Given the description of an element on the screen output the (x, y) to click on. 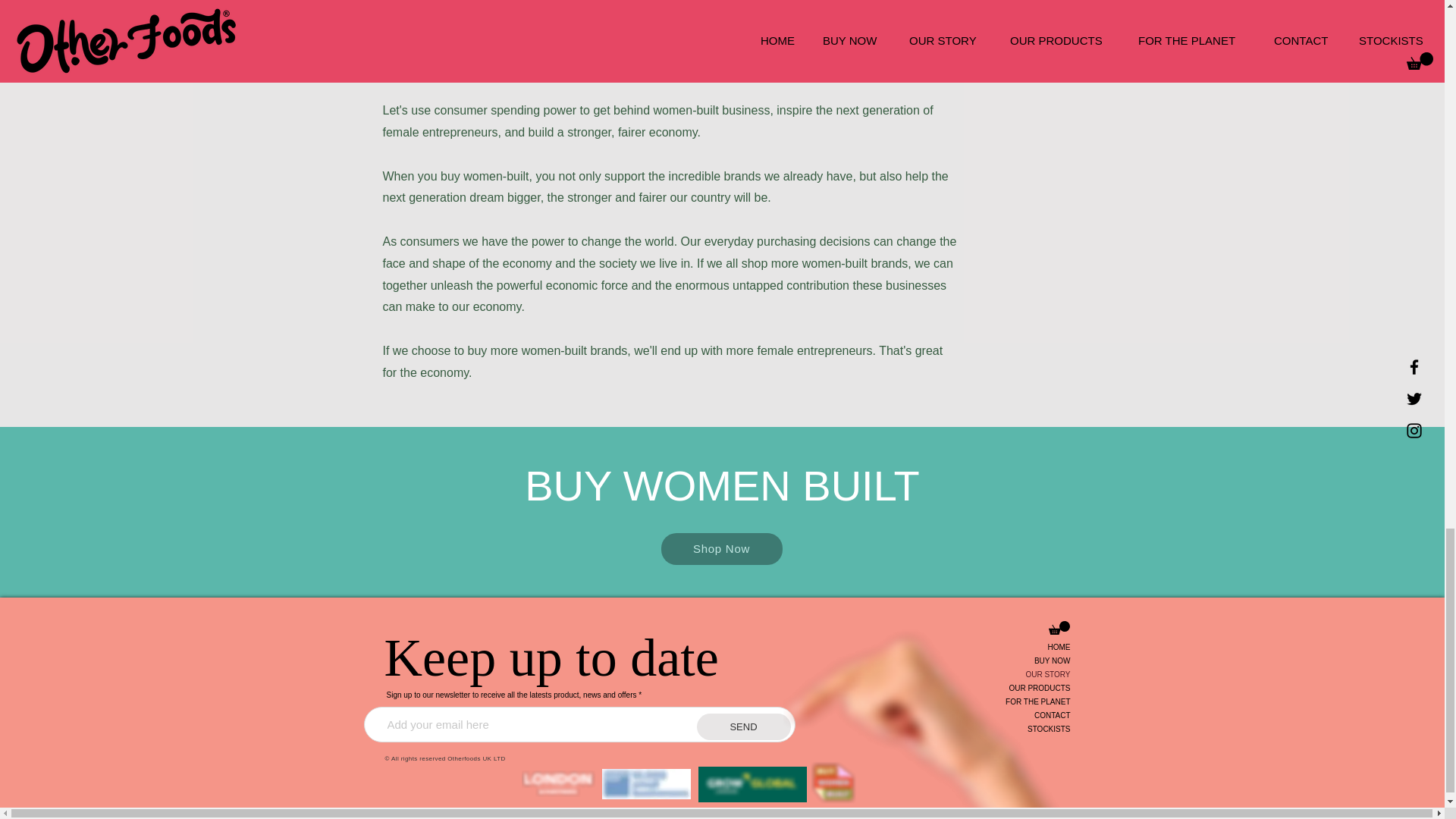
CONTACT (1016, 715)
STOCKISTS (1016, 729)
Shop Now (722, 549)
BUY NOW (1016, 661)
glg-cohort1.png (751, 784)
HOME (1016, 647)
SEND (742, 726)
